Given the description of an element on the screen output the (x, y) to click on. 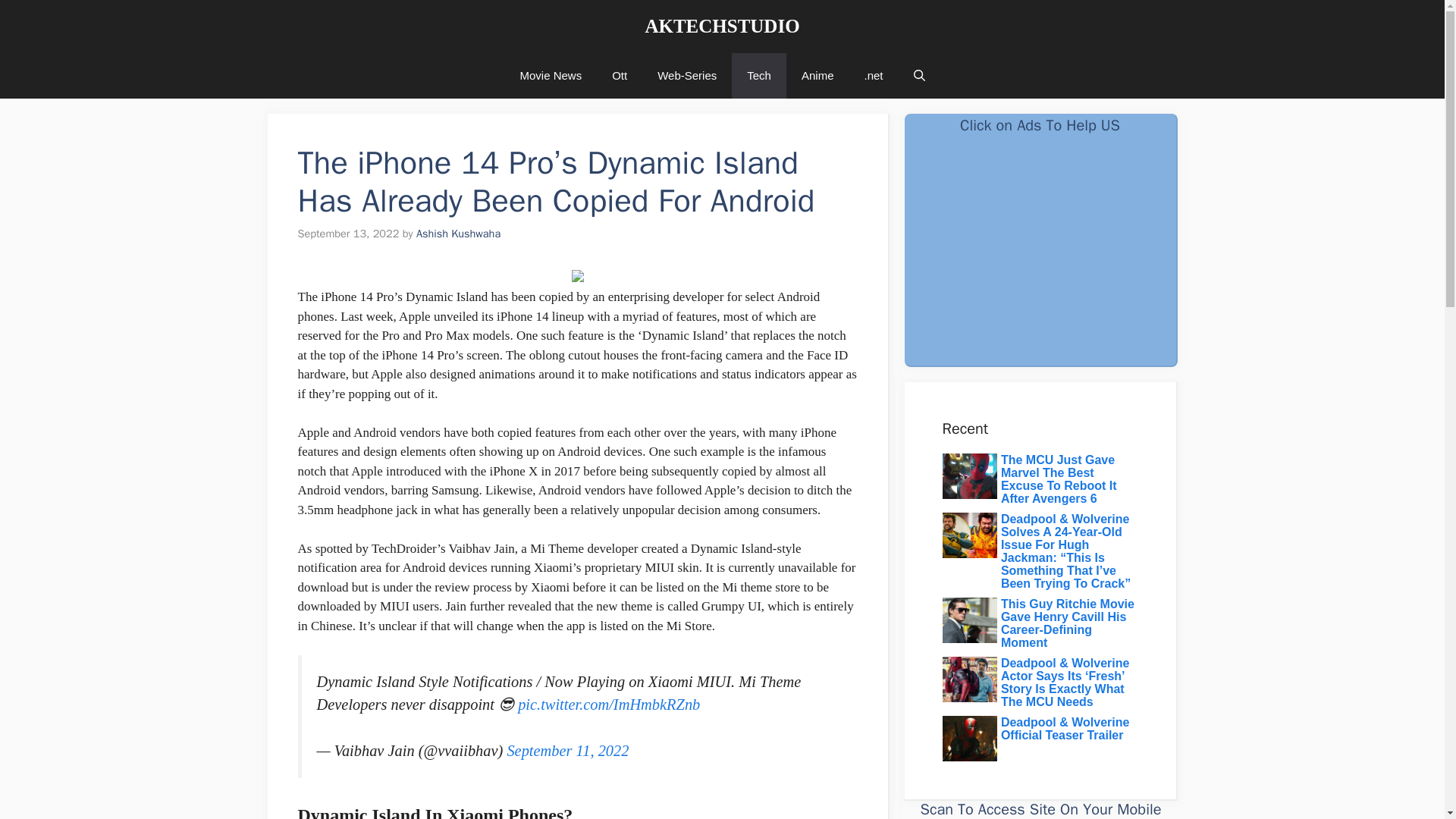
AKTECHSTUDIO (722, 25)
Ott (619, 75)
September 11, 2022 (567, 750)
Tech (759, 75)
Anime (817, 75)
Web-Series (687, 75)
.net (873, 75)
Ashish Kushwaha (458, 233)
